Given the description of an element on the screen output the (x, y) to click on. 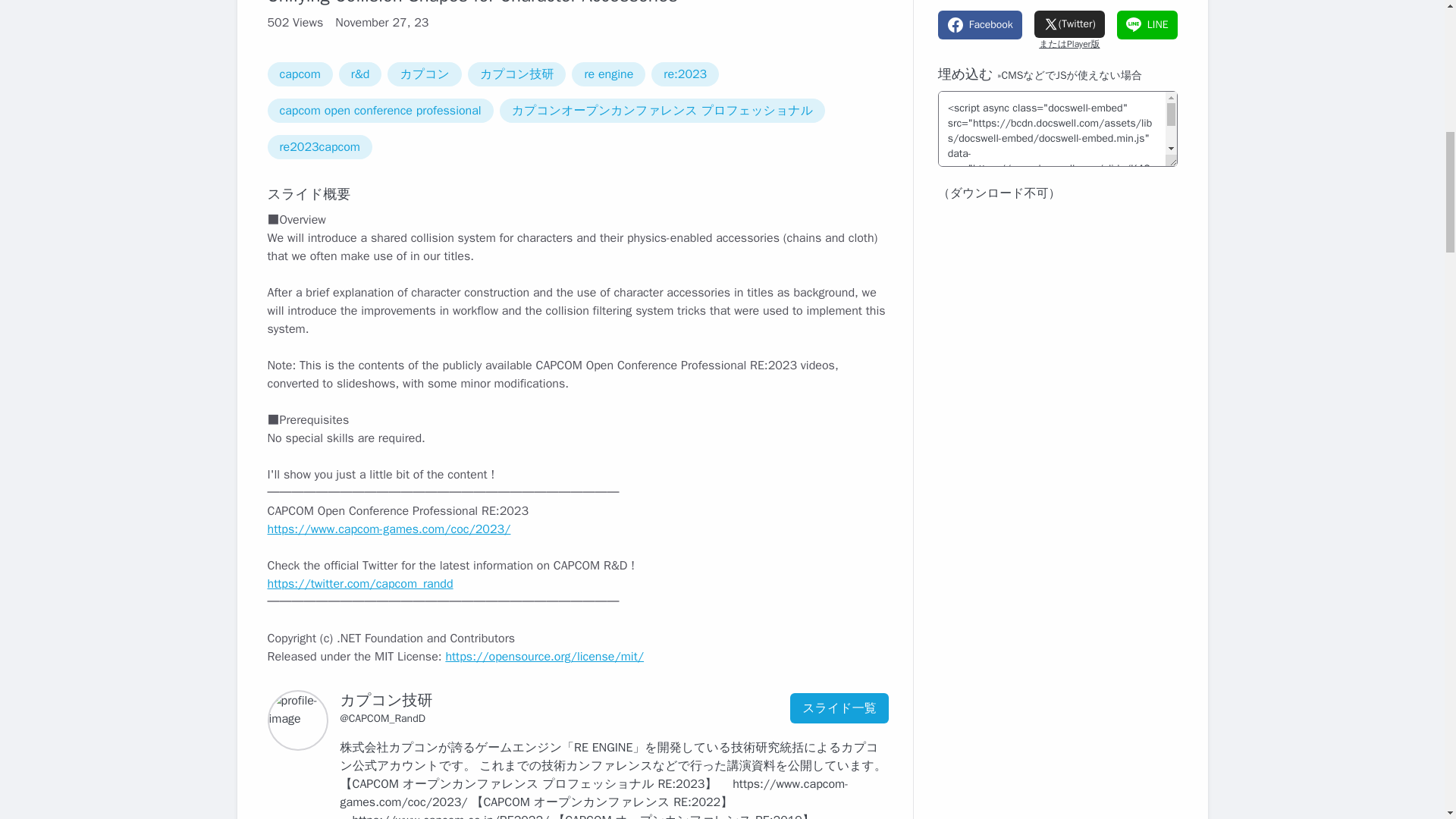
re2023capcom (318, 146)
re:2023 (684, 74)
re engine (608, 74)
Facebook (979, 24)
capcom (298, 74)
capcom open conference professional (379, 110)
